Given the description of an element on the screen output the (x, y) to click on. 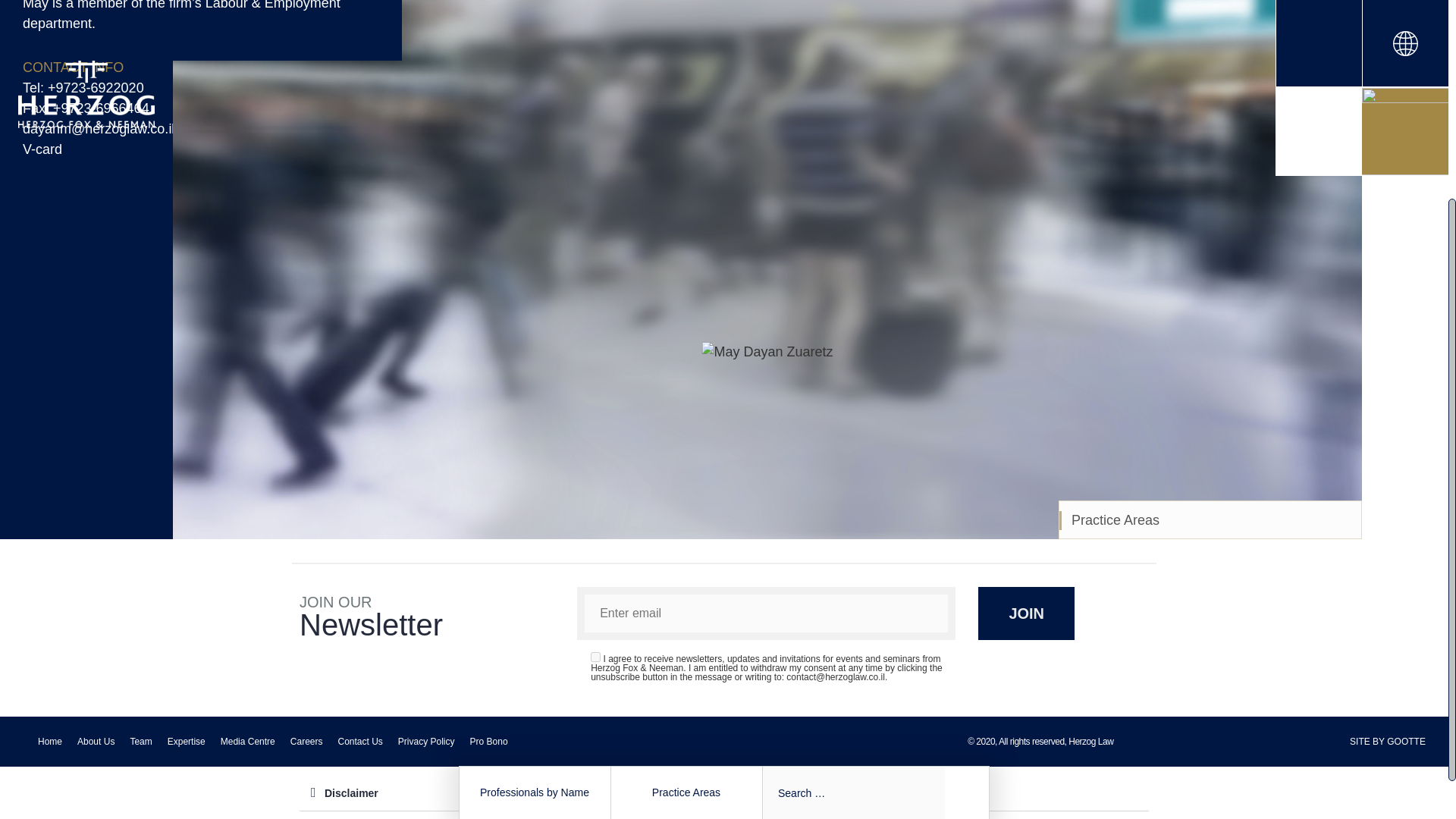
Join (1026, 613)
